Given the description of an element on the screen output the (x, y) to click on. 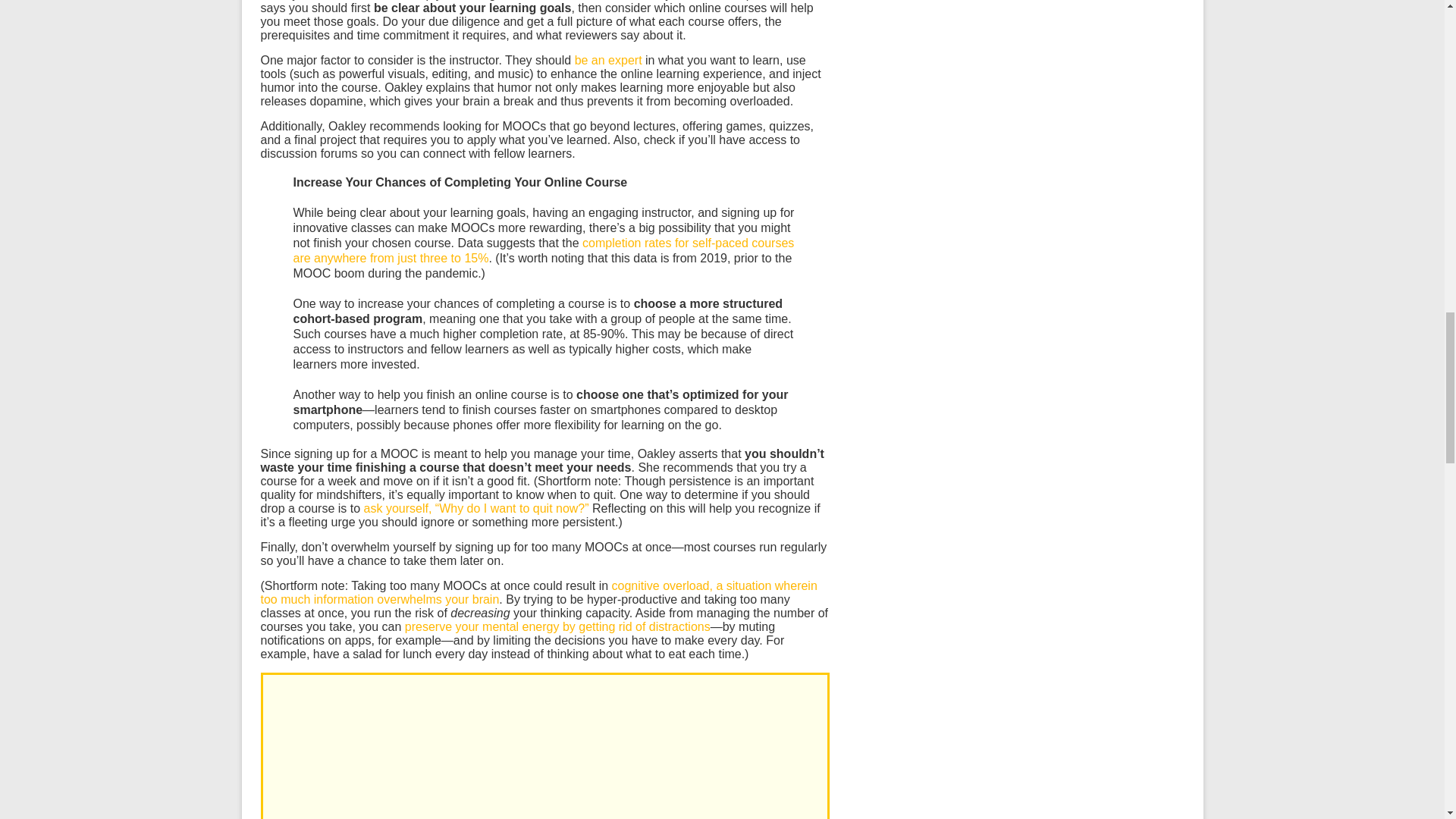
be an expert (608, 60)
preserve your mental energy by getting rid of distractions (557, 626)
